Given the description of an element on the screen output the (x, y) to click on. 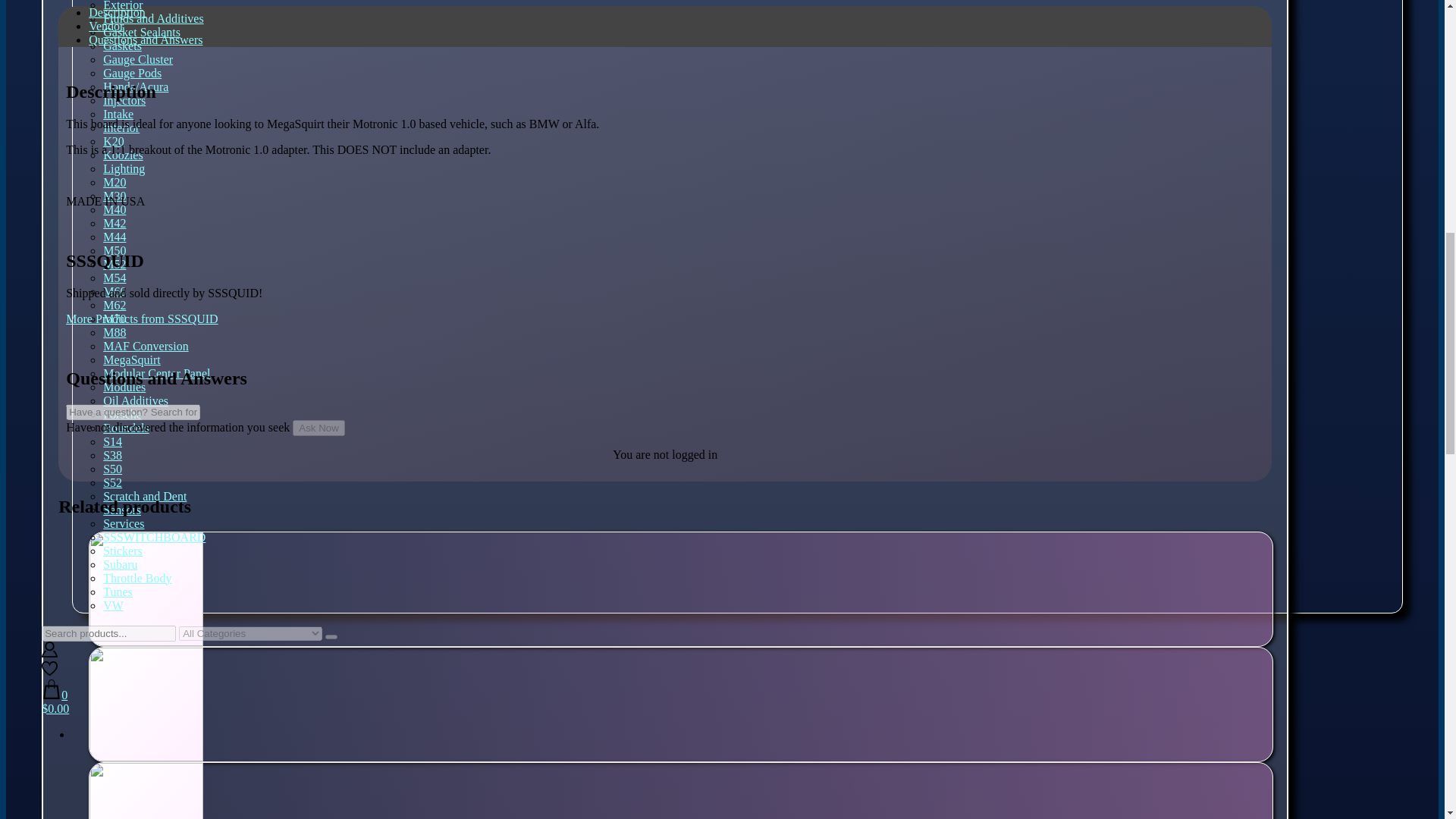
Cart (722, 701)
Wishlist (50, 671)
My Account (50, 653)
